Given the description of an element on the screen output the (x, y) to click on. 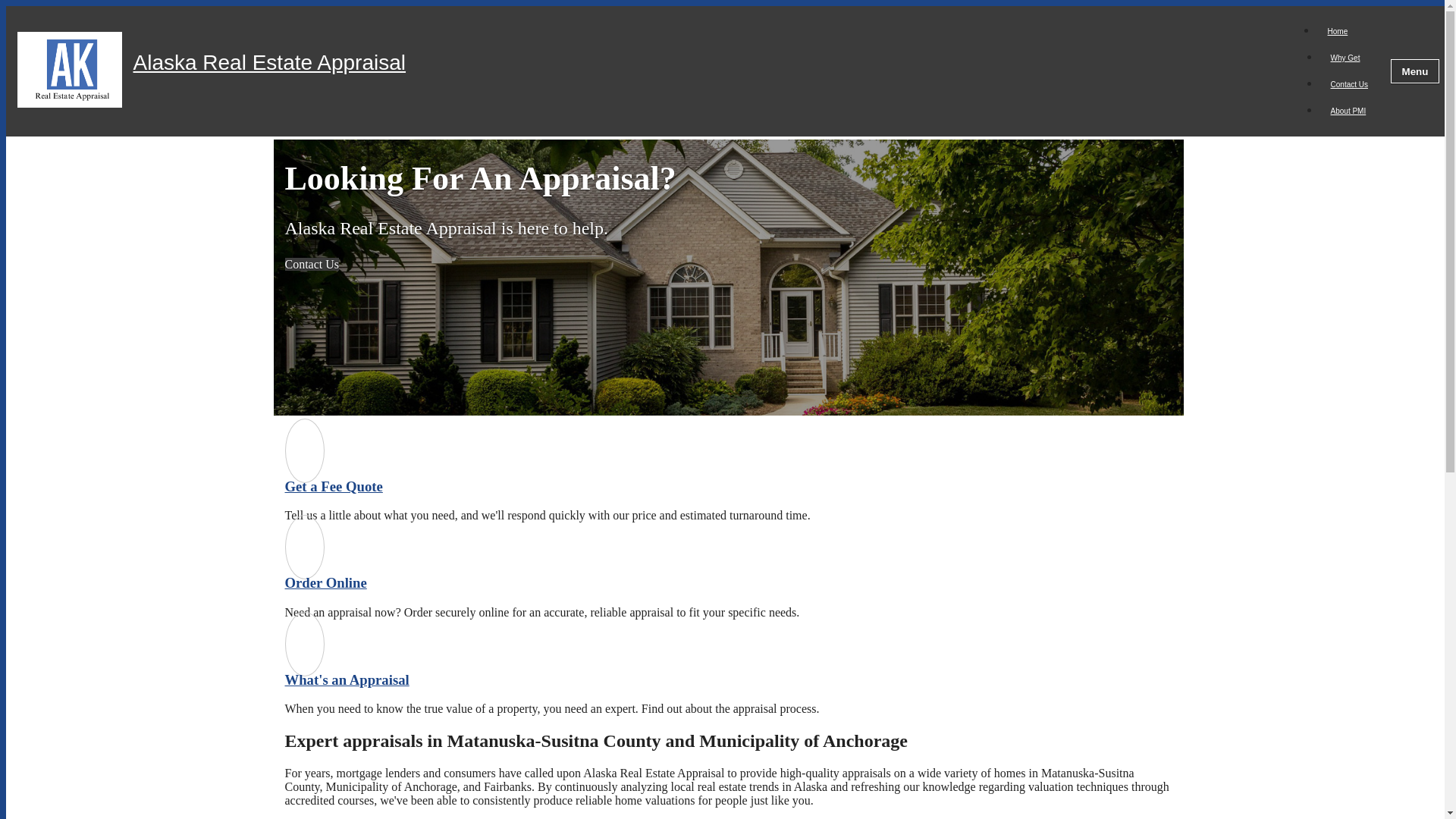
About PMI (1348, 110)
Alaska Real Estate Appraisal (709, 71)
Why Get (1345, 57)
Contact Us (1348, 83)
What's an Appraisal (347, 679)
Home (1337, 31)
Order Online (325, 582)
Contact Us (312, 264)
Get a Fee Quote (333, 486)
Menu (1414, 70)
